Given the description of an element on the screen output the (x, y) to click on. 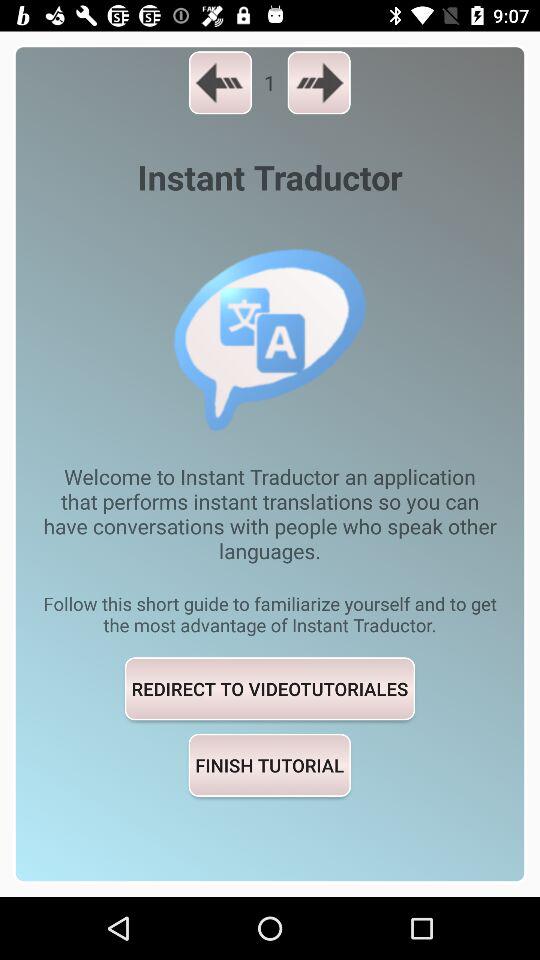
press the item to the right of the  1 (318, 82)
